Given the description of an element on the screen output the (x, y) to click on. 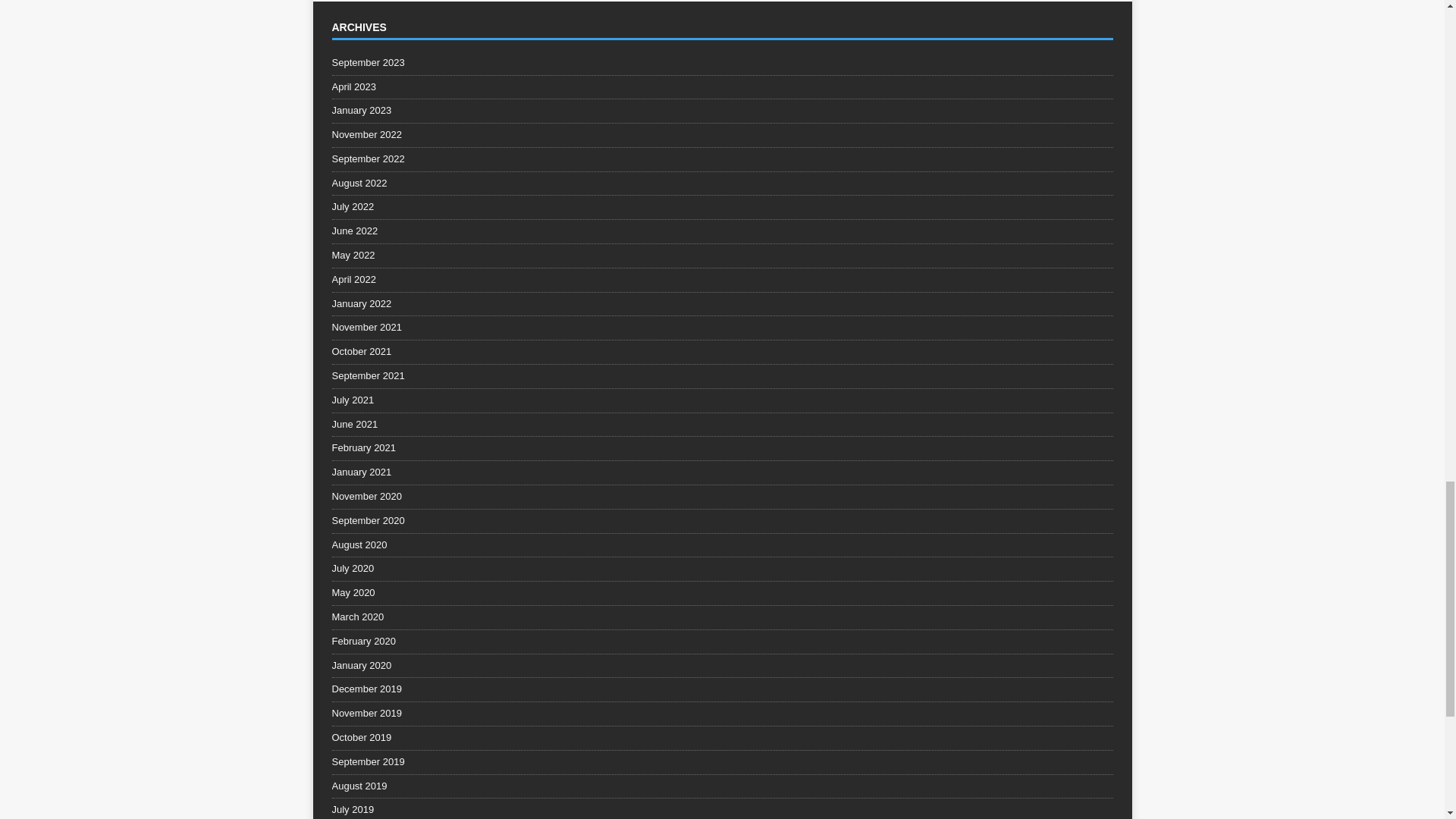
July 2022 (722, 207)
August 2022 (722, 183)
January 2023 (722, 110)
September 2022 (722, 159)
April 2023 (722, 87)
September 2023 (722, 65)
November 2022 (722, 135)
